Given the description of an element on the screen output the (x, y) to click on. 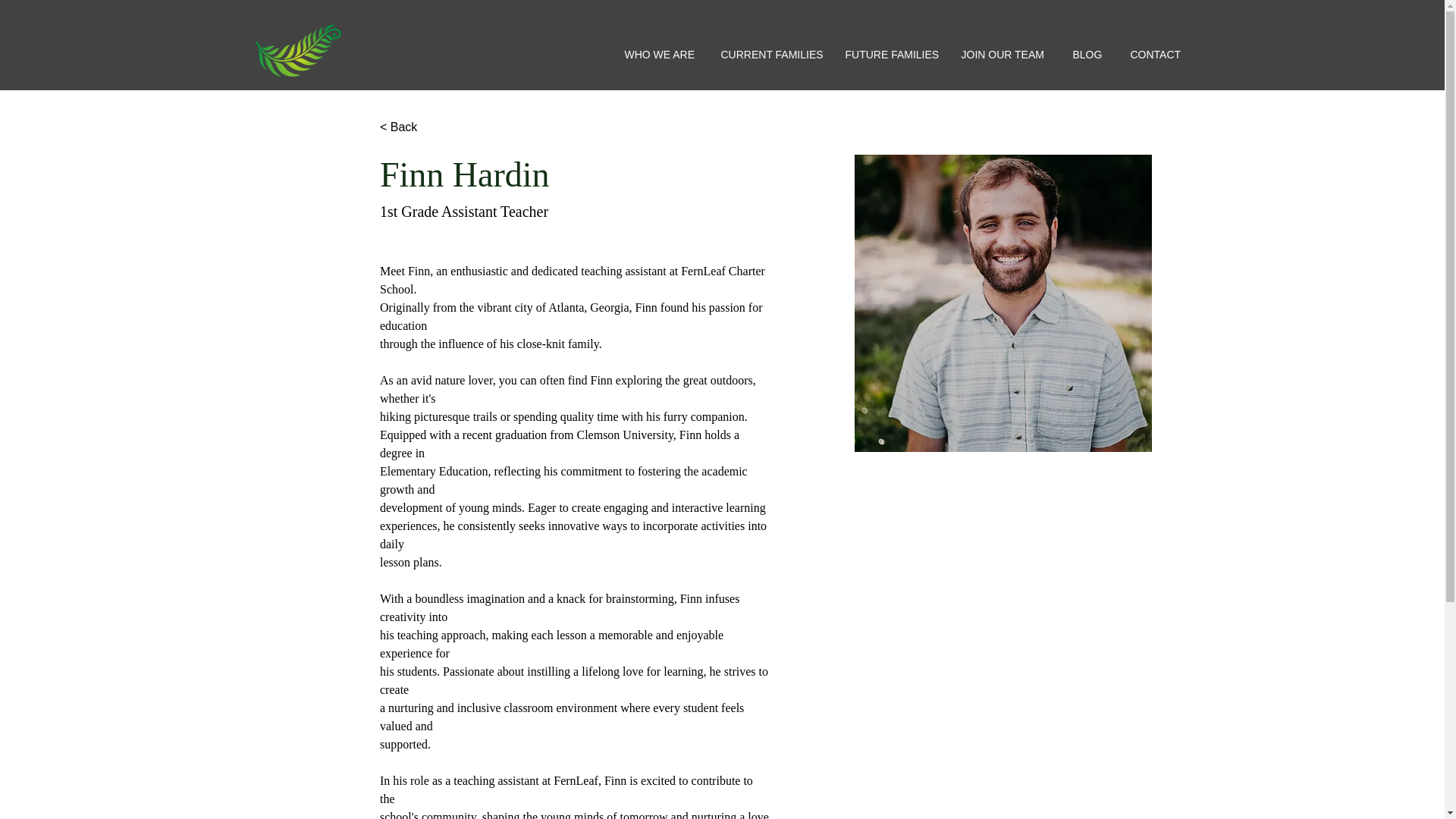
JOIN OUR TEAM (1005, 54)
Finn Hardin FernLeaf Staff 23-24.jpg (1002, 303)
CONTACT (1158, 54)
BLOG (1090, 54)
